Given the description of an element on the screen output the (x, y) to click on. 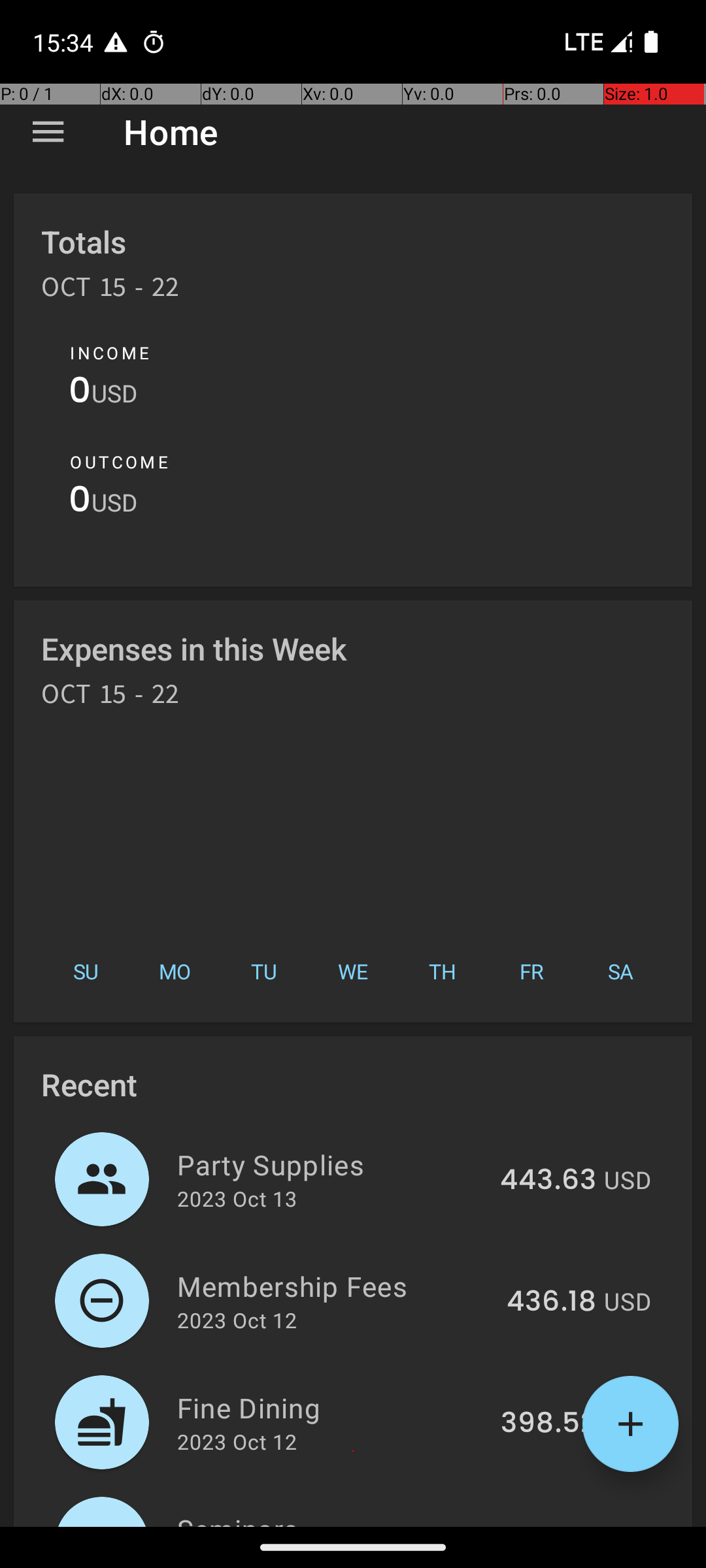
Party Supplies Element type: android.widget.TextView (330, 1164)
443.63 Element type: android.widget.TextView (547, 1180)
Membership Fees Element type: android.widget.TextView (334, 1285)
436.18 Element type: android.widget.TextView (550, 1301)
Fine Dining Element type: android.widget.TextView (331, 1407)
398.52 Element type: android.widget.TextView (548, 1423)
Seminars Element type: android.widget.TextView (341, 1518)
115.19 Element type: android.widget.TextView (558, 1524)
